Given the description of an element on the screen output the (x, y) to click on. 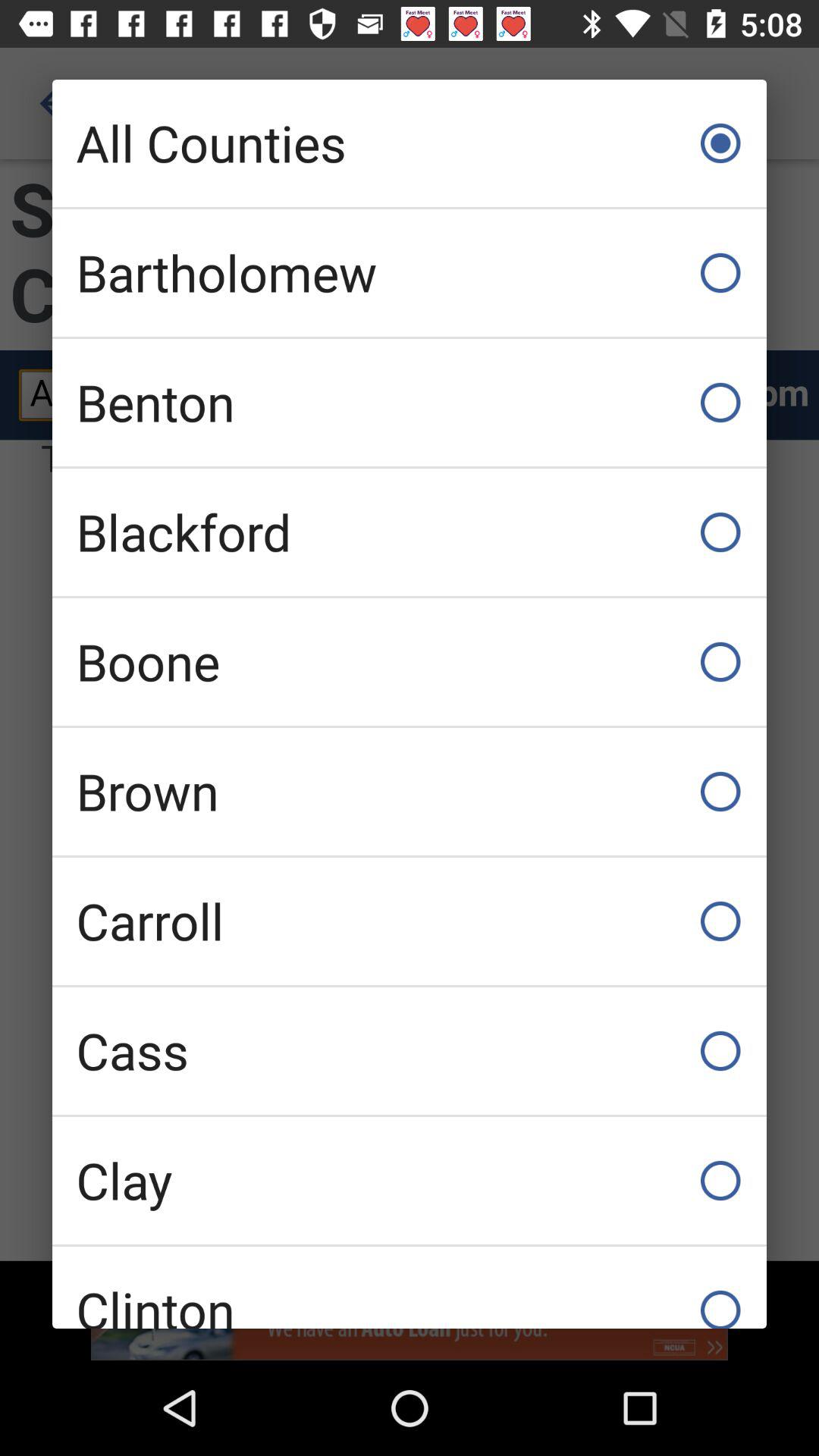
flip until the carroll icon (409, 921)
